Given the description of an element on the screen output the (x, y) to click on. 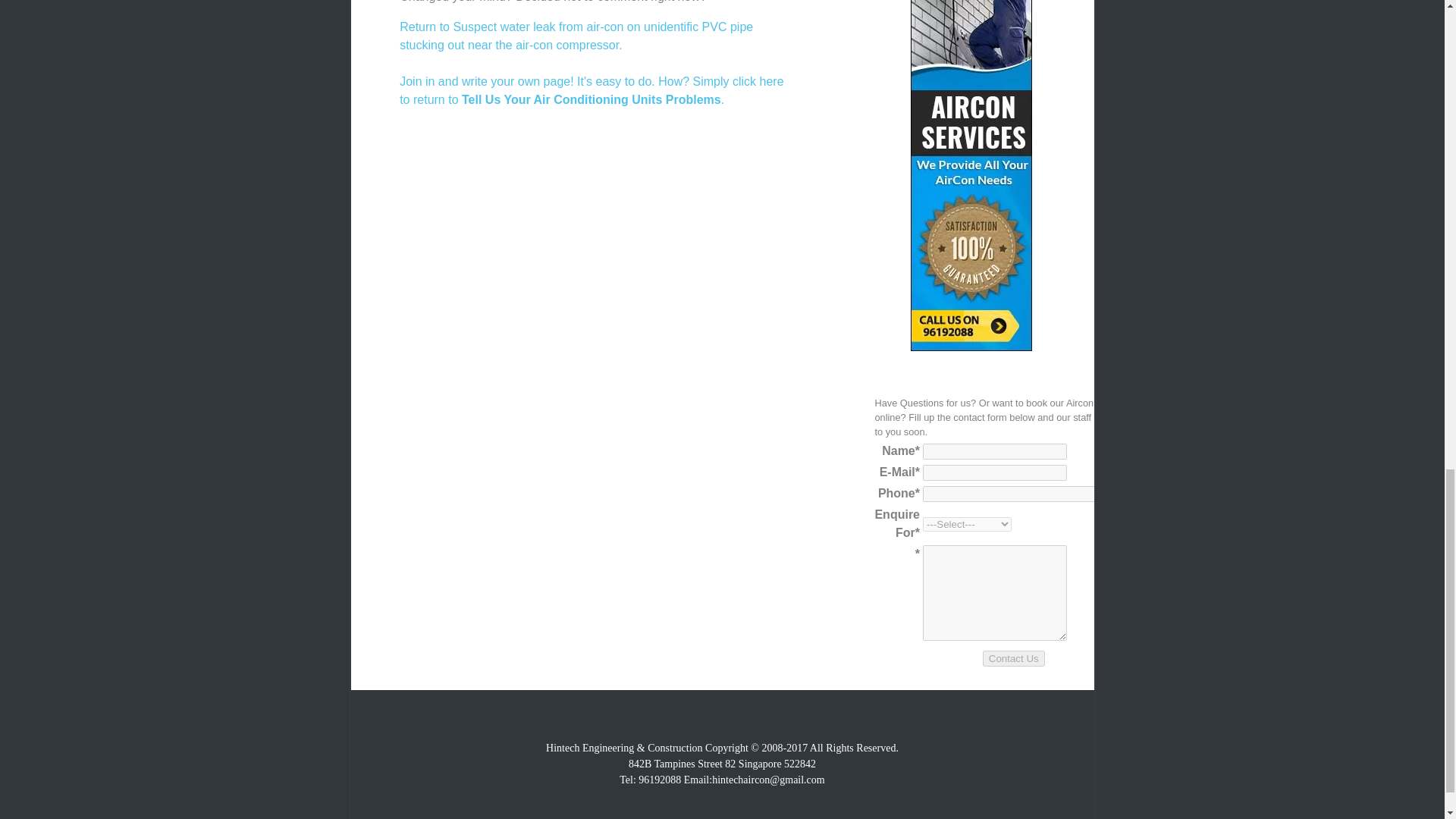
Go to Hintech Air Conditioning Company Contact Us (971, 346)
Contact Us (1013, 658)
Contact Us (1013, 658)
